Given the description of an element on the screen output the (x, y) to click on. 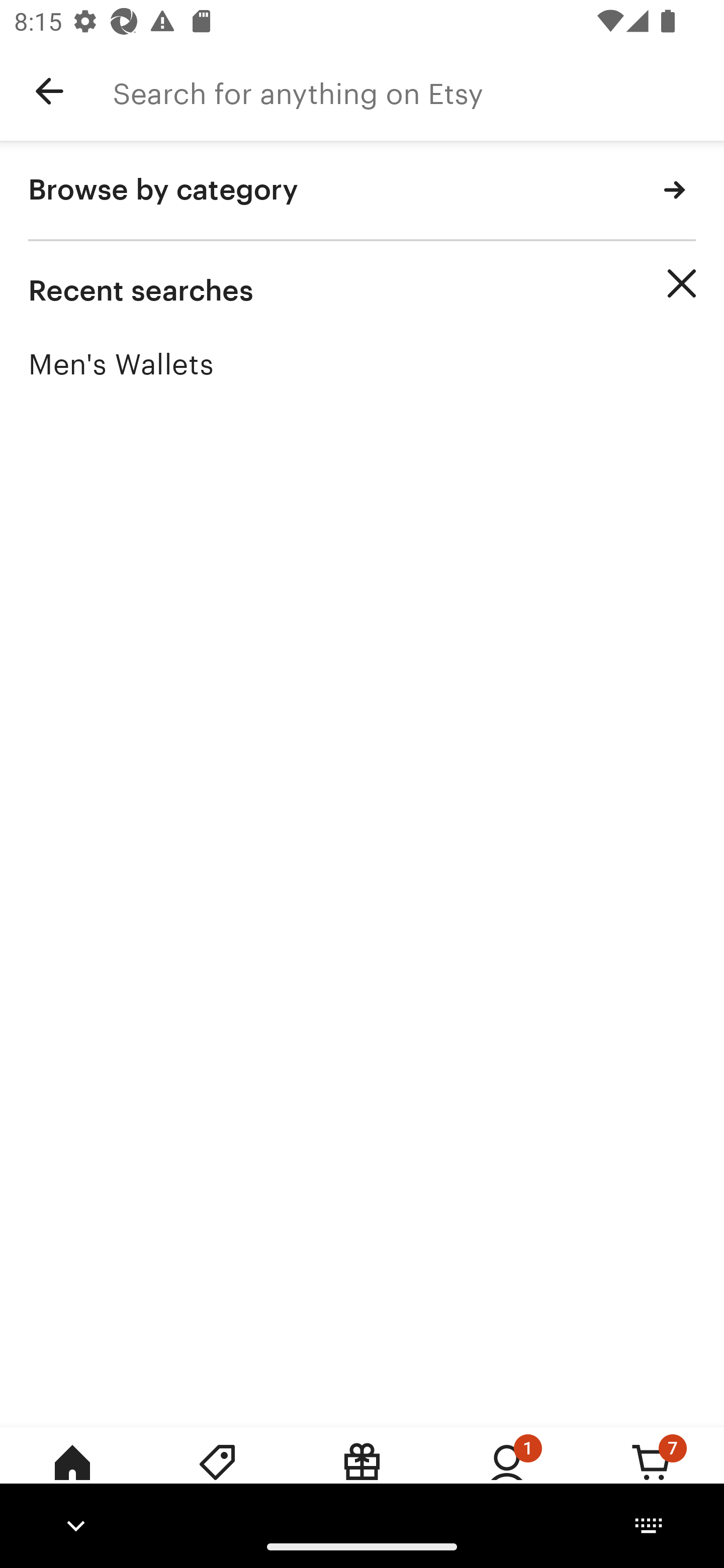
Navigate up (49, 91)
Search for anything on Etsy (418, 91)
Browse by category (362, 191)
Clear (681, 283)
Men's Wallets (362, 364)
Deals (216, 1475)
Gift Mode (361, 1475)
You, 1 new notification (506, 1475)
Cart, 7 new notifications (651, 1475)
